Given the description of an element on the screen output the (x, y) to click on. 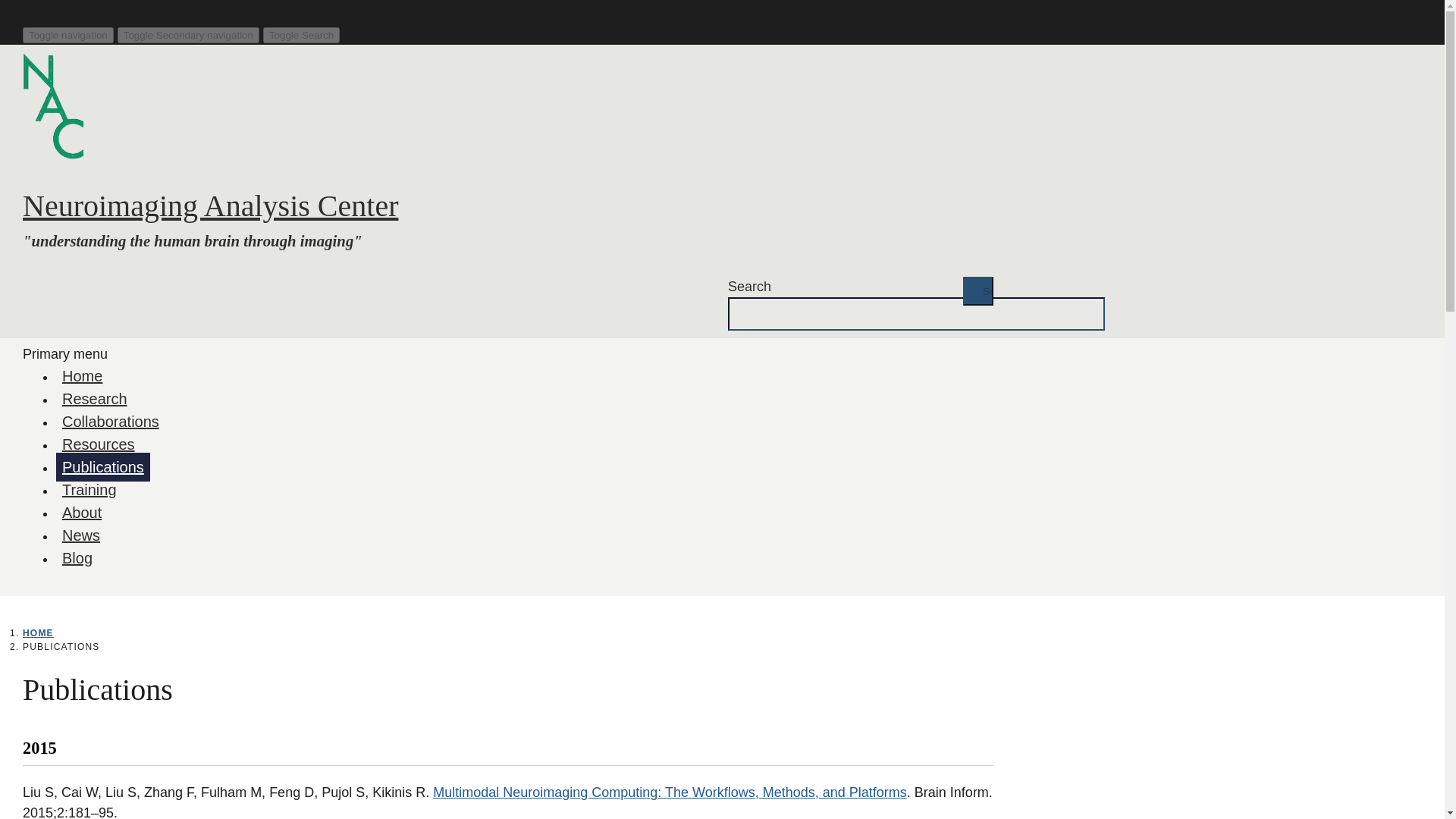
Collaborations (110, 421)
About (81, 512)
Home (81, 375)
Neuroimaging Analysis Center (210, 205)
Search (977, 290)
HOME (38, 633)
Resources (98, 443)
Research (94, 398)
Toggle Search (301, 35)
Training (89, 489)
